Given the description of an element on the screen output the (x, y) to click on. 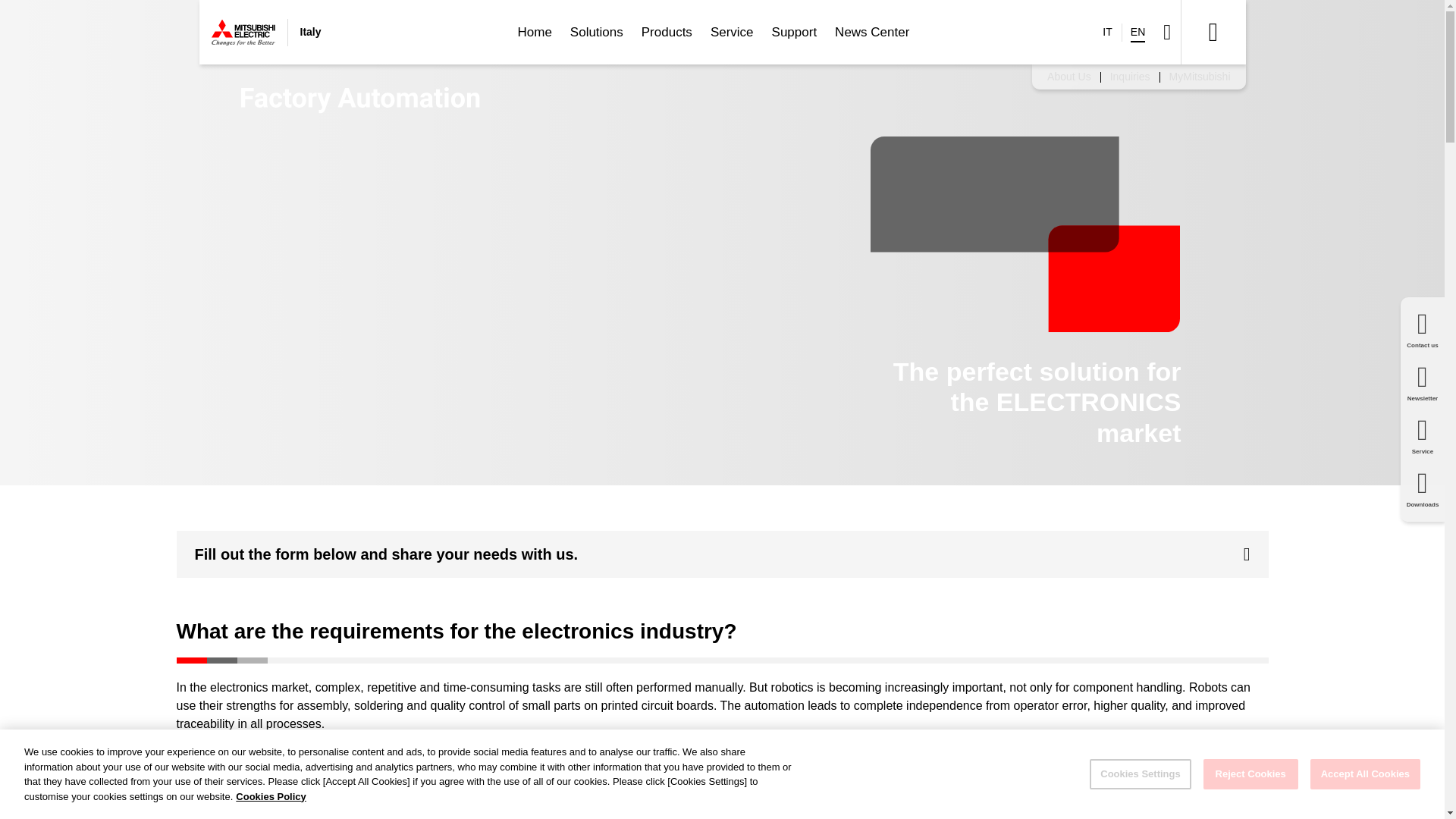
Home (534, 32)
Solutions (595, 32)
Products (666, 32)
English (1137, 32)
Italian (1107, 32)
Italy (265, 32)
